Given the description of an element on the screen output the (x, y) to click on. 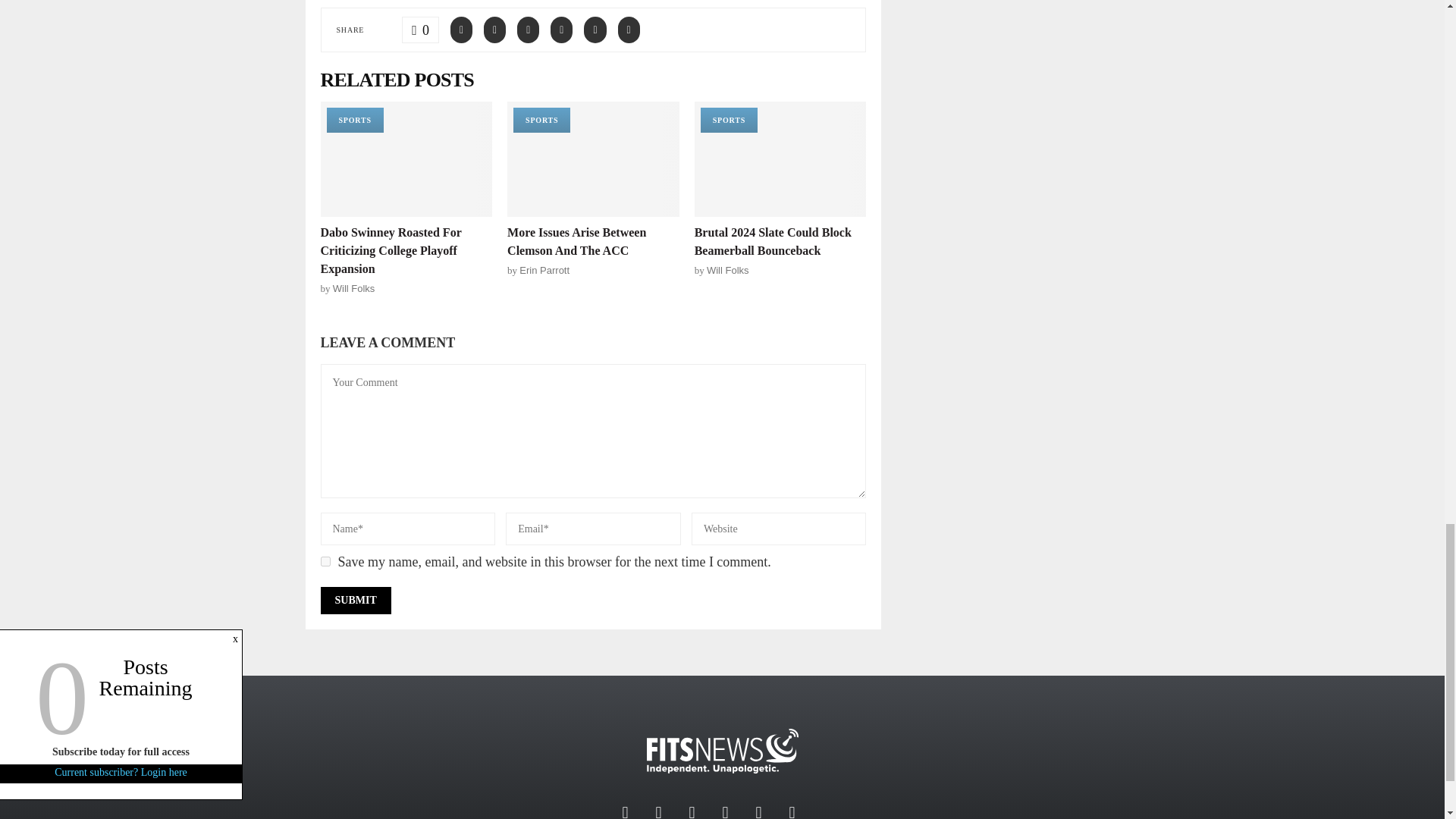
Submit (355, 600)
Like (420, 29)
yes (325, 561)
